Given the description of an element on the screen output the (x, y) to click on. 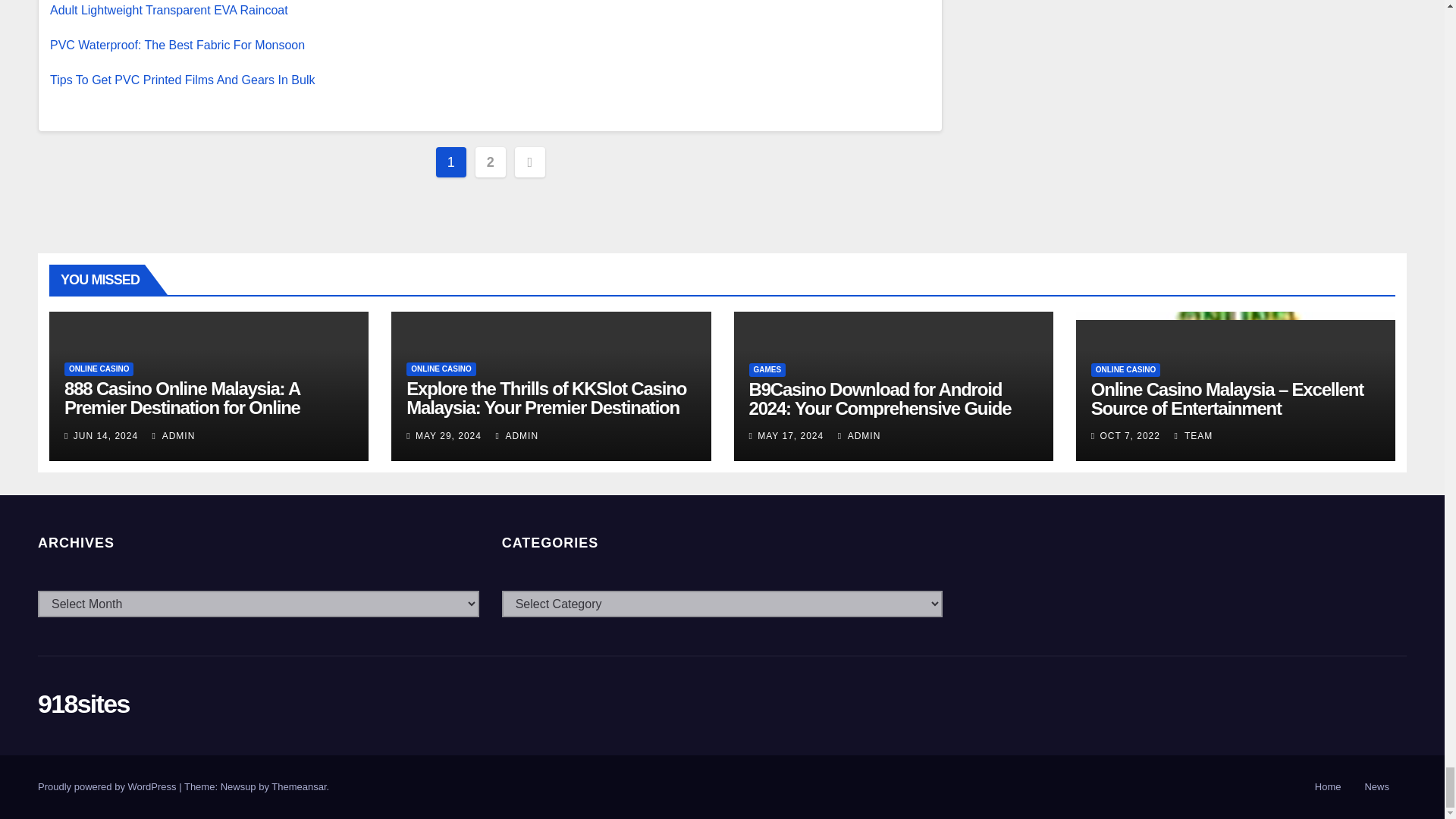
Home (1328, 786)
